Given the description of an element on the screen output the (x, y) to click on. 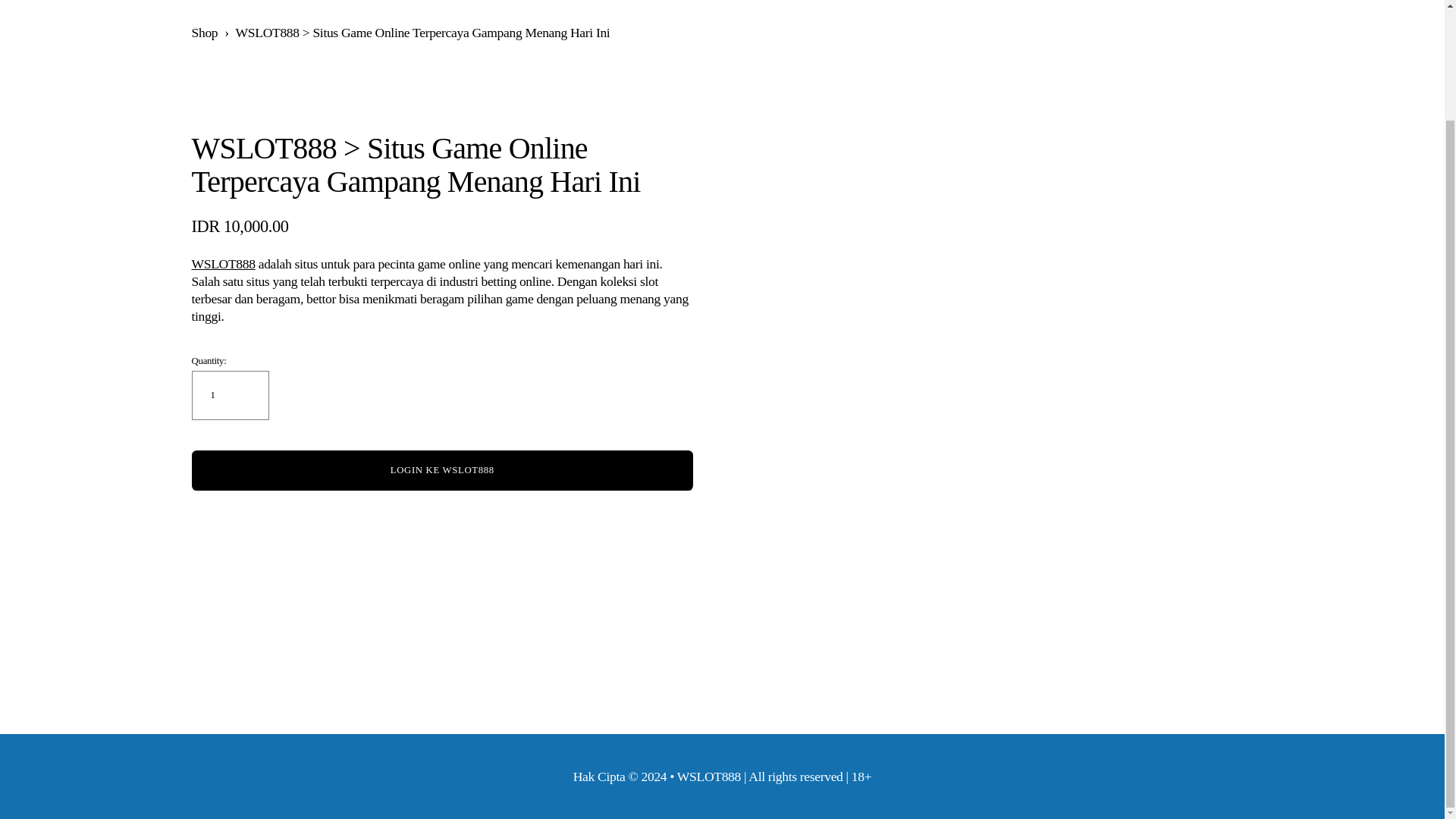
LOGIN KE WSLOT888 (441, 468)
Shop (203, 32)
WSLOT888 (222, 263)
1 (228, 395)
